Given the description of an element on the screen output the (x, y) to click on. 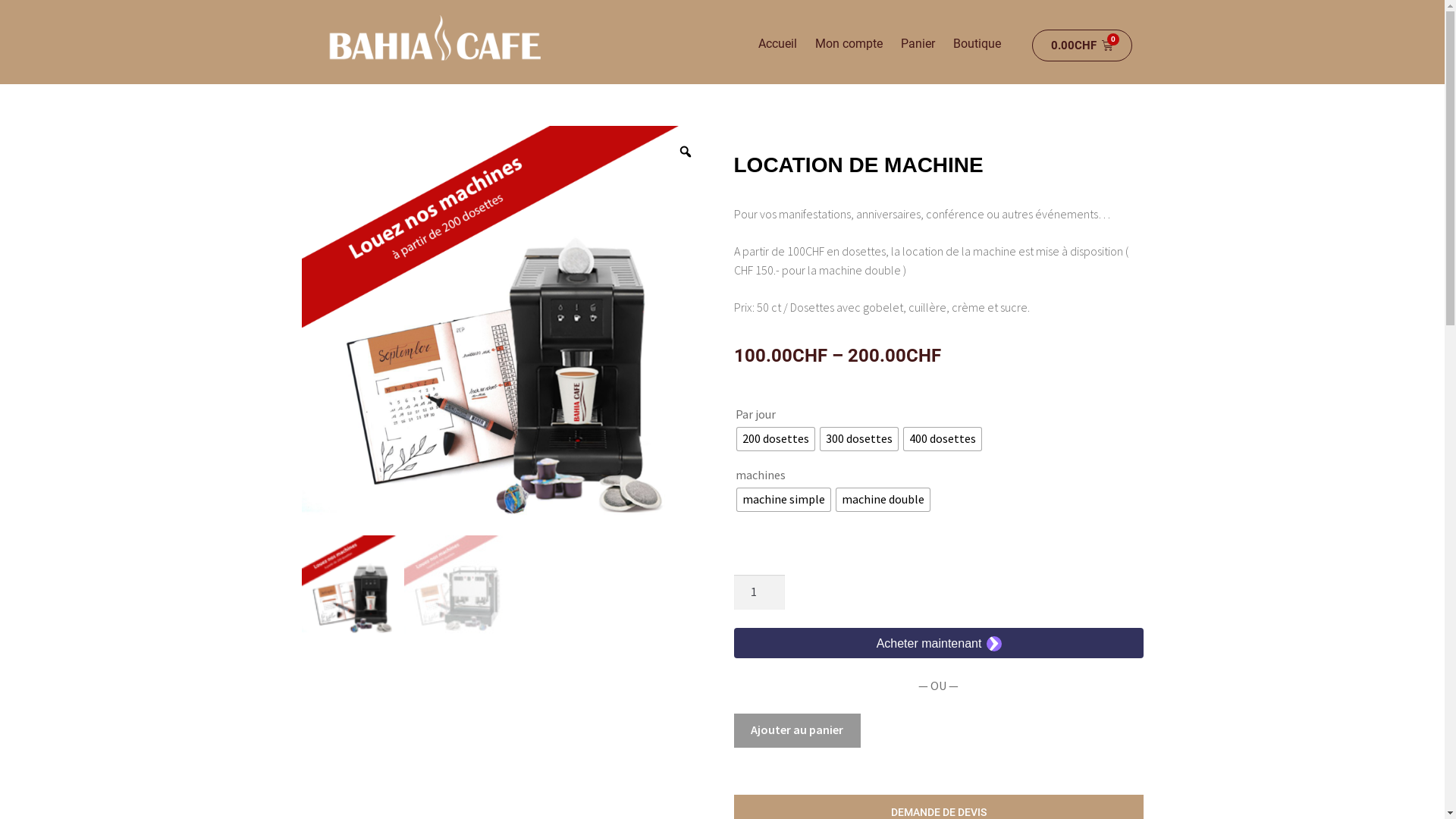
Ajouter au panier Element type: text (797, 730)
bahia-logo-web-blanc Element type: hover (433, 37)
Boutique Element type: text (977, 43)
Accueil Element type: text (777, 43)
0.00CHF
0 Element type: text (1082, 45)
location-de-machine-double Element type: hover (454, 586)
Mon compte Element type: text (848, 43)
Panier Element type: text (917, 43)
louez nos machines event Element type: hover (506, 330)
louez nos machines event Element type: hover (352, 586)
